Given the description of an element on the screen output the (x, y) to click on. 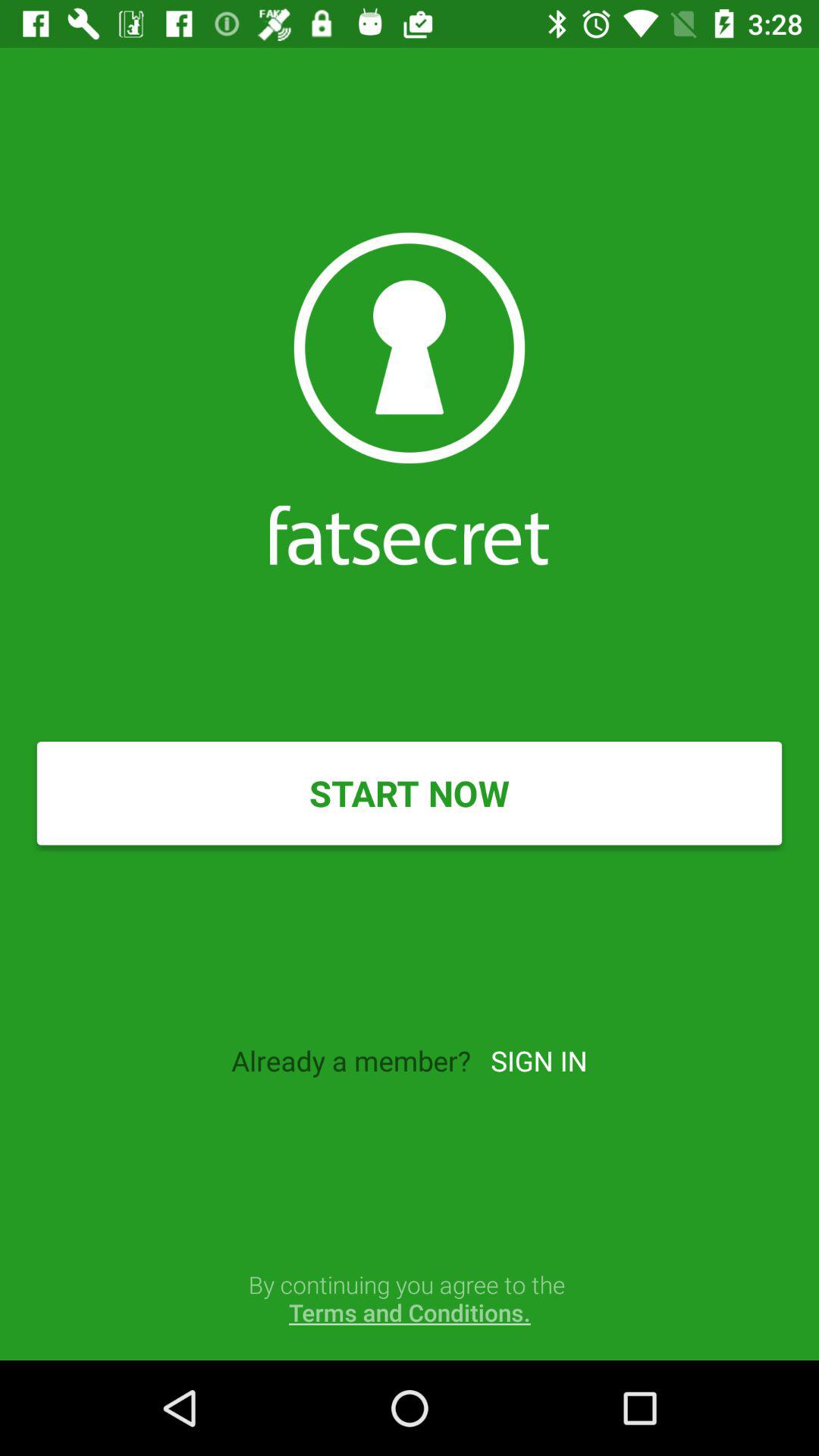
open the icon below the start now item (538, 1060)
